Given the description of an element on the screen output the (x, y) to click on. 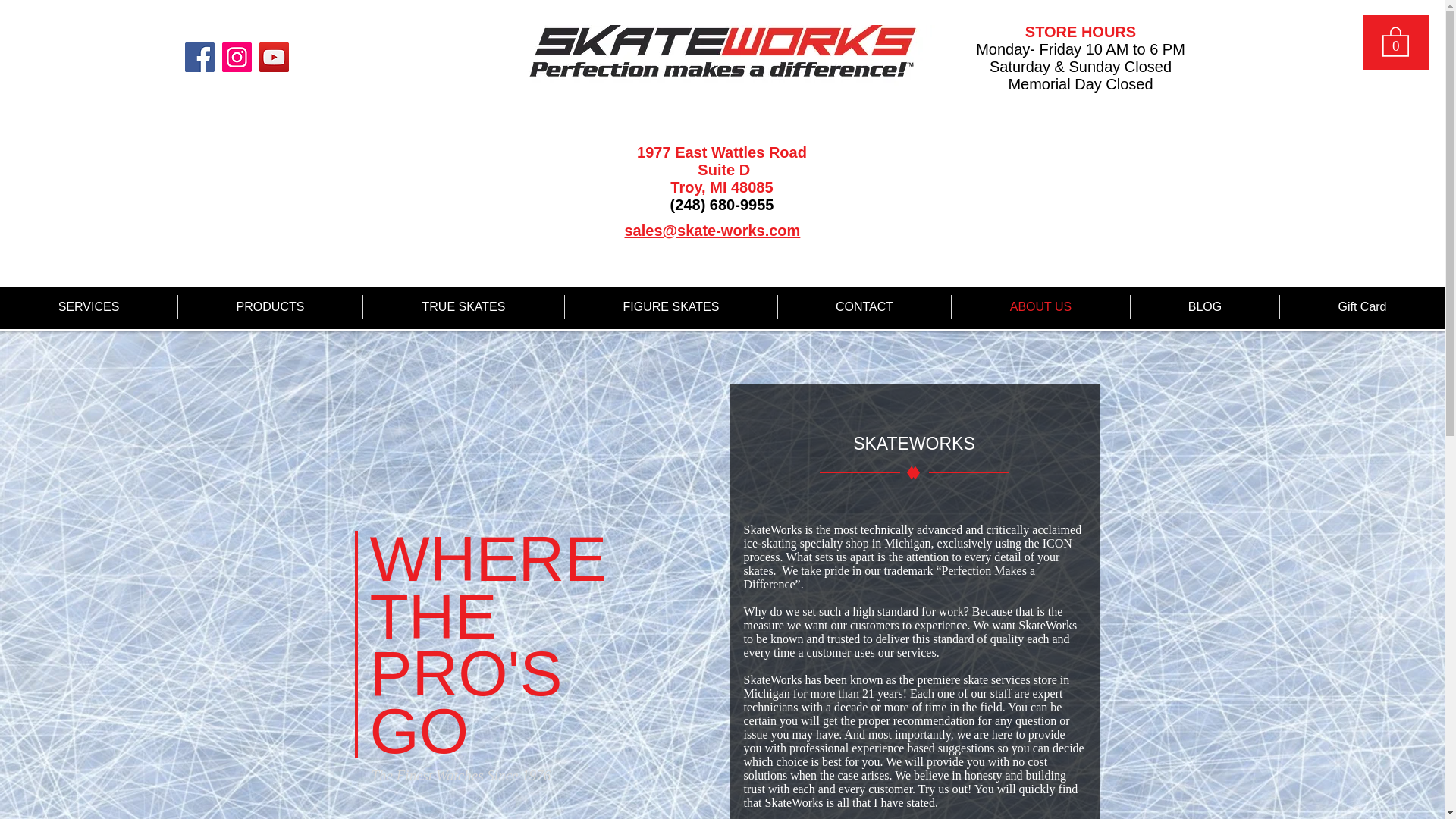
SERVICES (88, 306)
TRUE SKATES (463, 306)
FIGURE SKATES (670, 306)
CONTACT (863, 306)
PRODUCTS (269, 306)
BLOG (1205, 306)
ABOUT US (1040, 306)
